Given the description of an element on the screen output the (x, y) to click on. 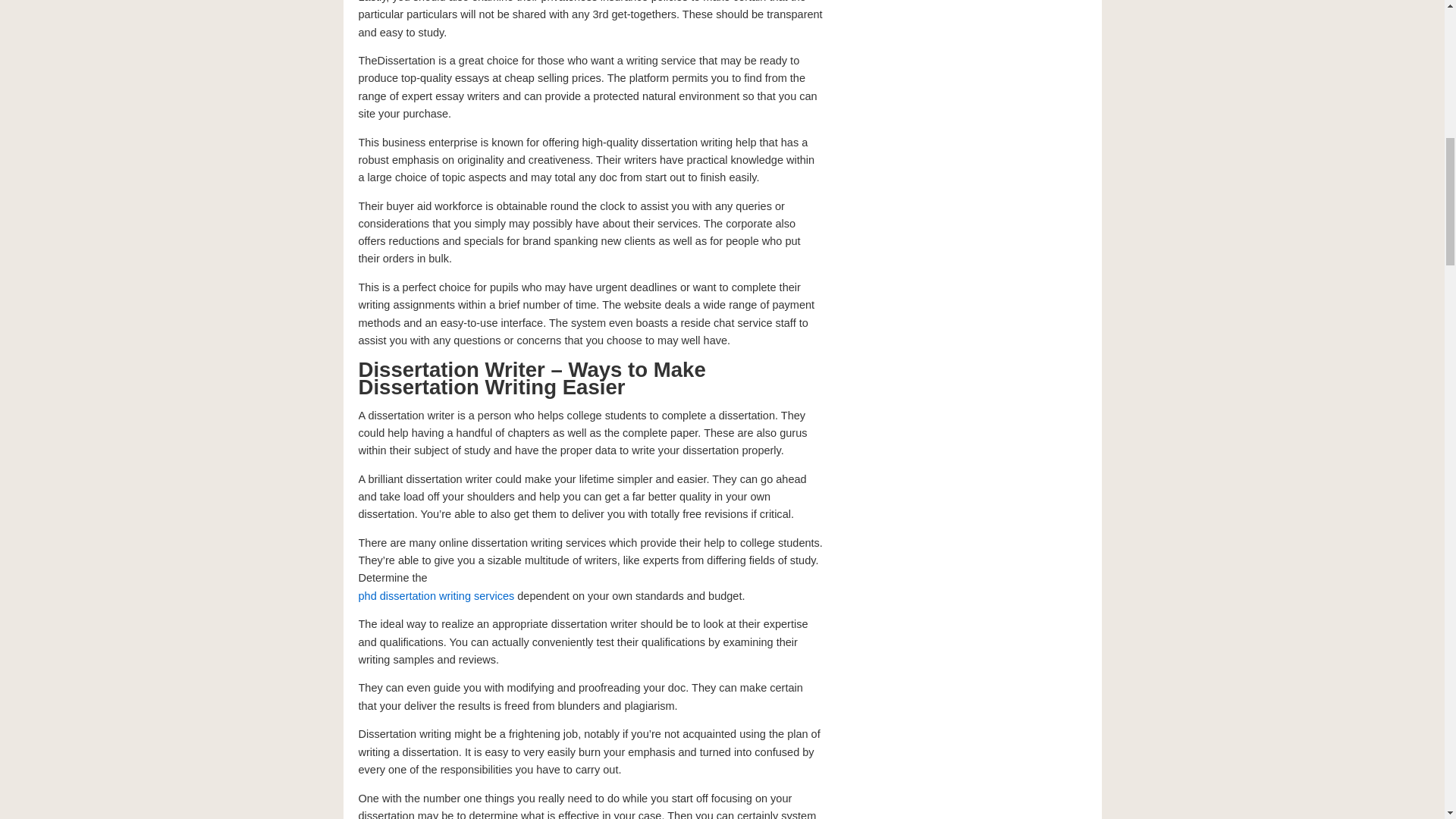
phd dissertation writing services (435, 595)
